Given the description of an element on the screen output the (x, y) to click on. 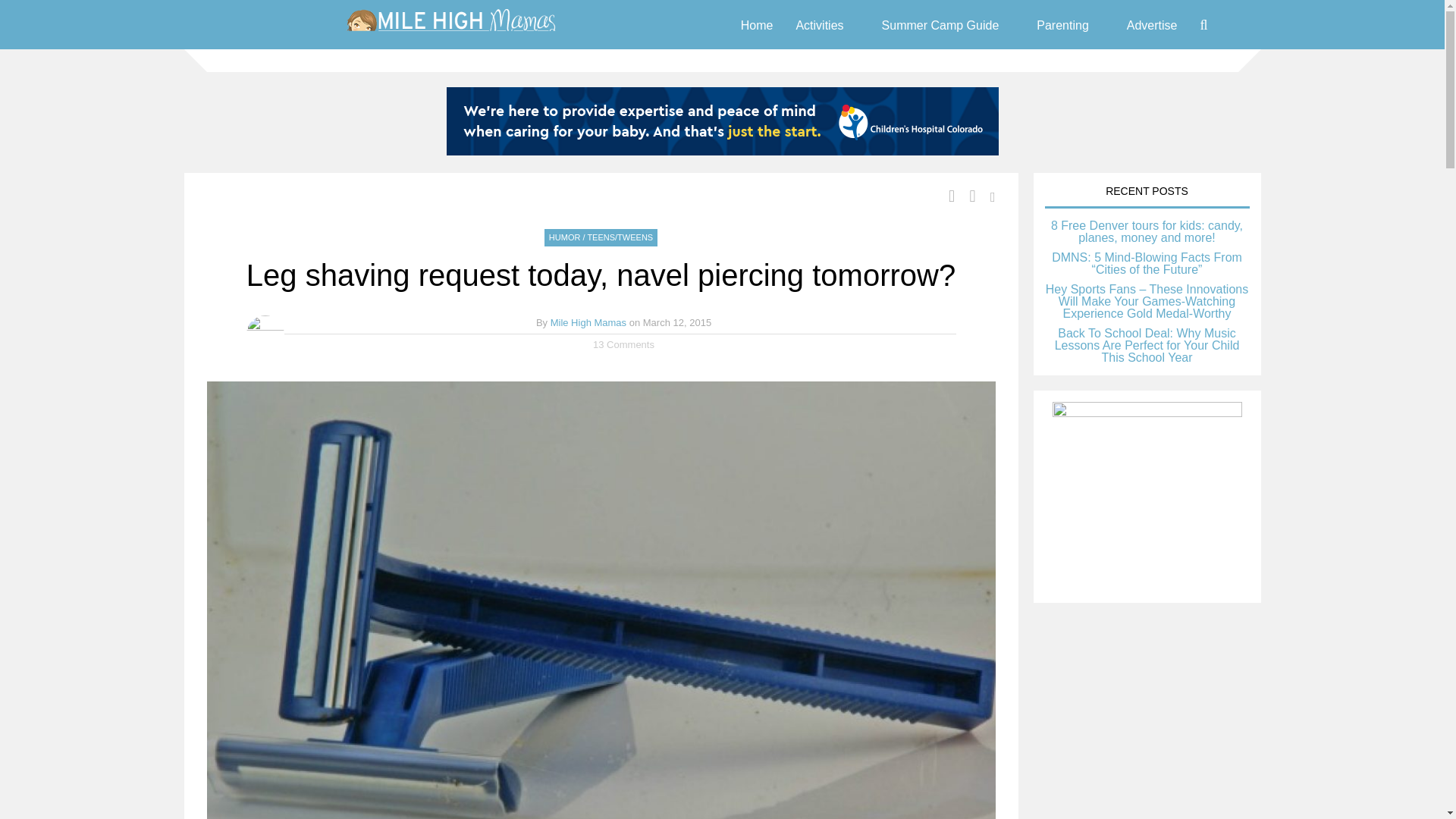
Advertise to Denver Moms (1151, 24)
Denver activities (818, 24)
Mile High Mamas (451, 35)
